Given the description of an element on the screen output the (x, y) to click on. 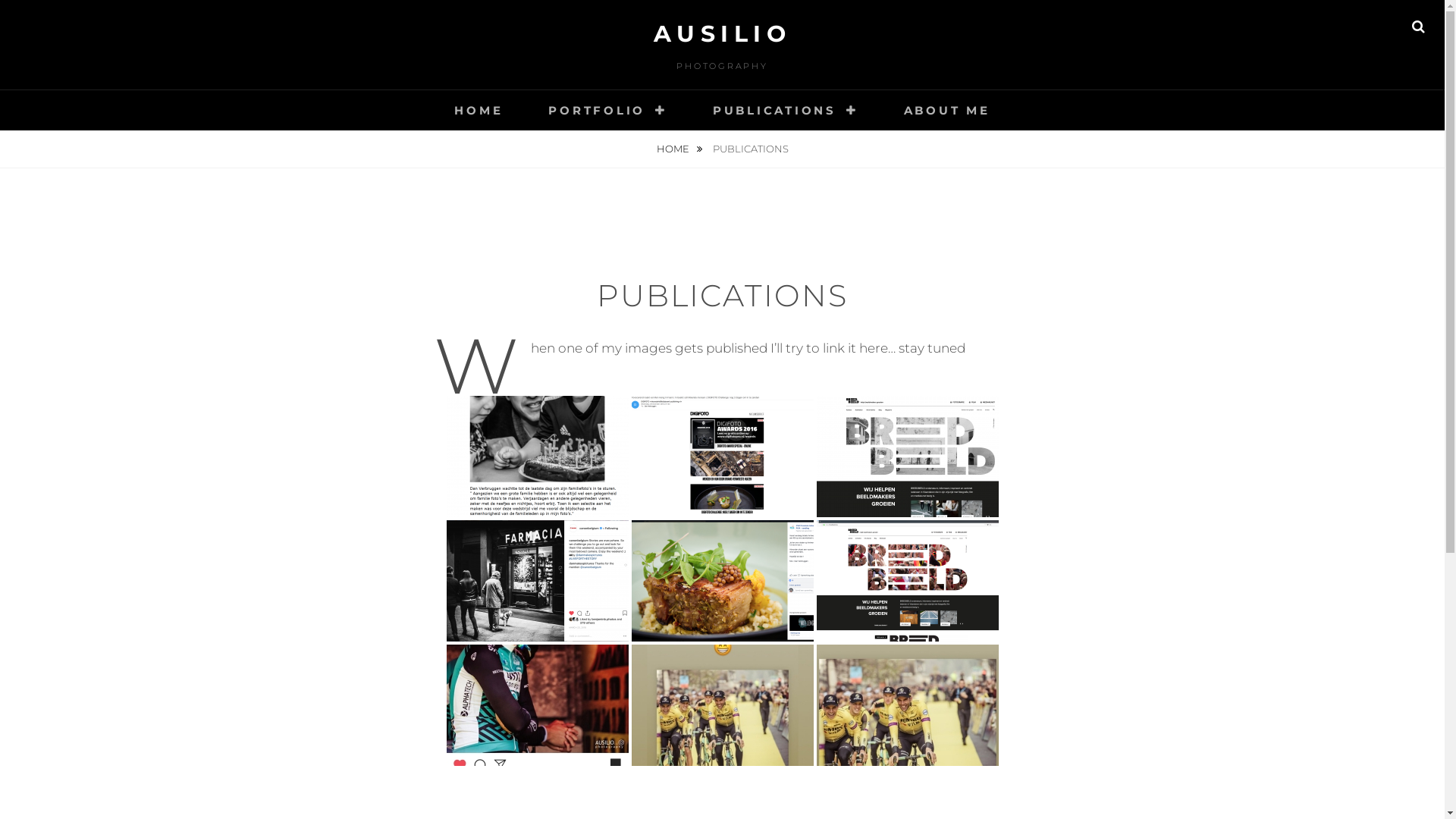
PORTFOLIO Element type: text (607, 110)
SEARCH Element type: text (1418, 26)
PUBLICATIONS Element type: text (785, 110)
HOME Element type: text (478, 110)
HOME Element type: text (678, 148)
2019 - repost by Jeremy Lecrocq Element type: hover (536, 704)
ABOUT ME Element type: text (946, 110)
AUSILIO Element type: text (722, 33)
2018-08 photo in Breedbeeld logo selection Element type: hover (906, 580)
Image Food in Newsletter Digifoto Pro Element type: hover (721, 456)
2018-03 Photo in Breedbeeld Logo Element type: hover (906, 456)
2018 -04 Image for CVO - Antwerpen Proeft Element type: hover (721, 580)
Regram by Canon Belgium Element type: hover (536, 580)
3e place finalist - theme birthdays/family Element type: hover (536, 456)
2019 - Repost by Jumbo Visma team Element type: hover (721, 704)
2019 - Story by Wout Van Aert repost Element type: hover (906, 704)
